Given the description of an element on the screen output the (x, y) to click on. 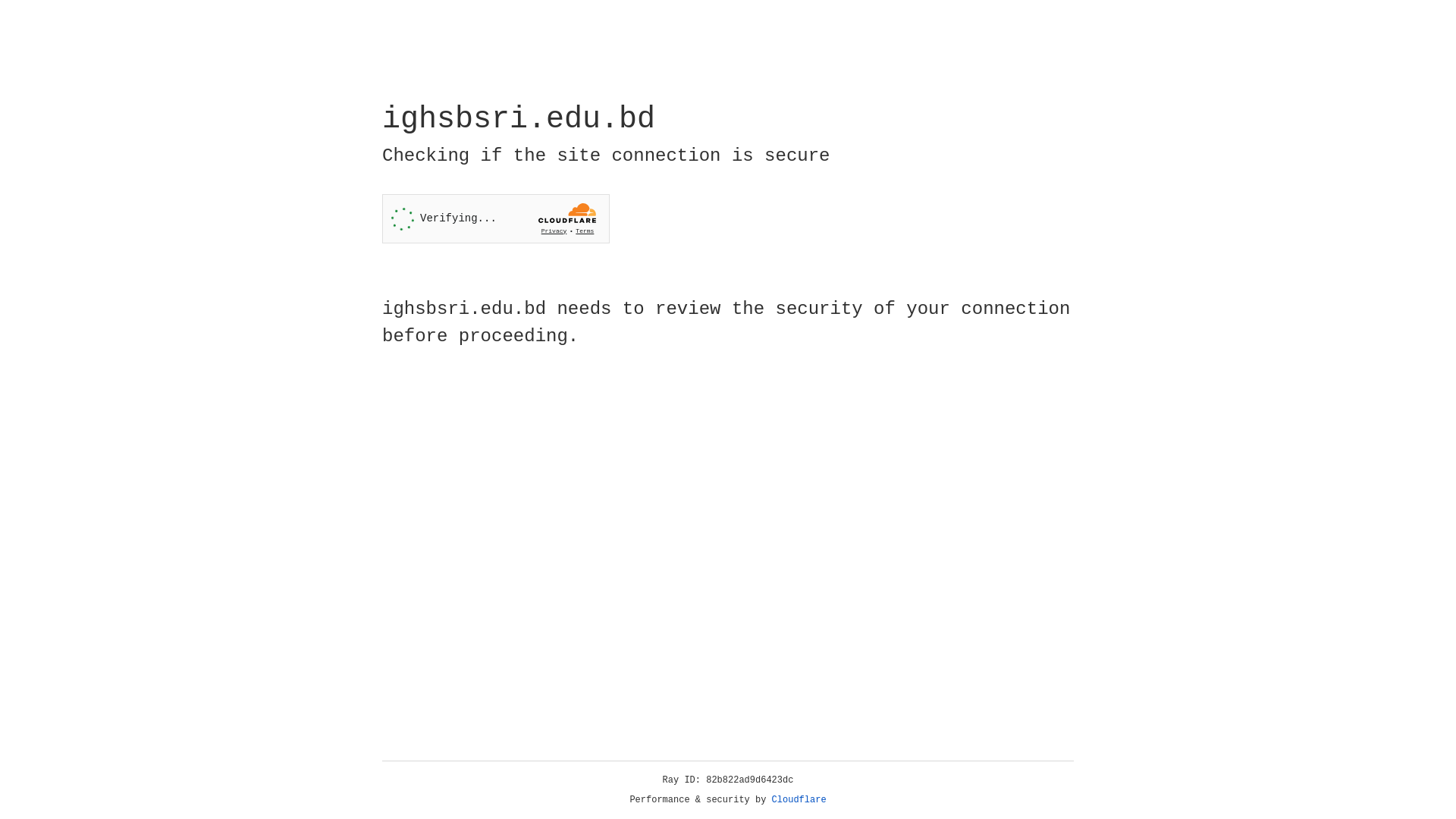
Cloudflare Element type: text (798, 799)
Widget containing a Cloudflare security challenge Element type: hover (495, 218)
